Given the description of an element on the screen output the (x, y) to click on. 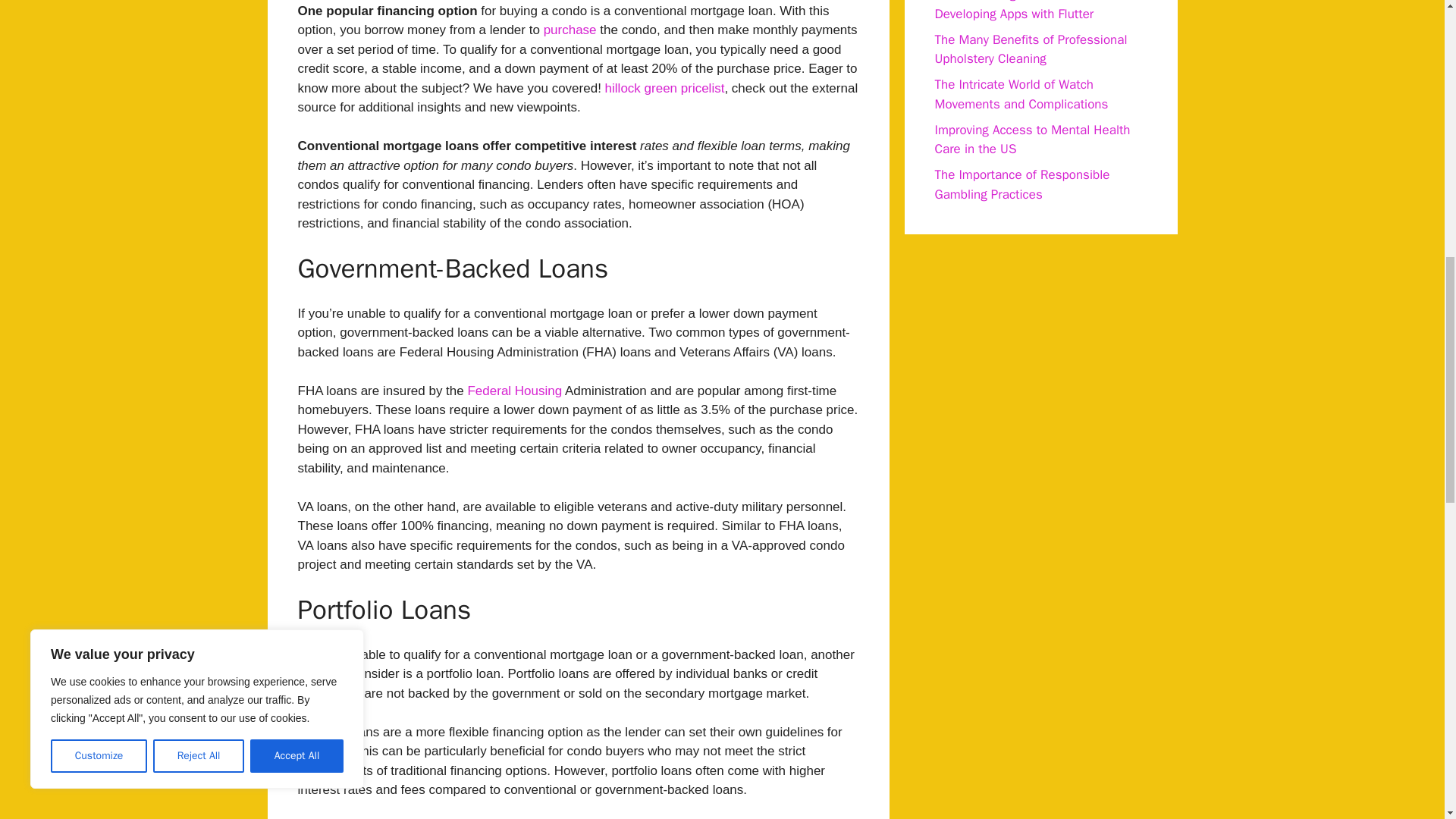
hillock green pricelist (665, 88)
Federal Housing (514, 391)
purchase (569, 29)
